Given the description of an element on the screen output the (x, y) to click on. 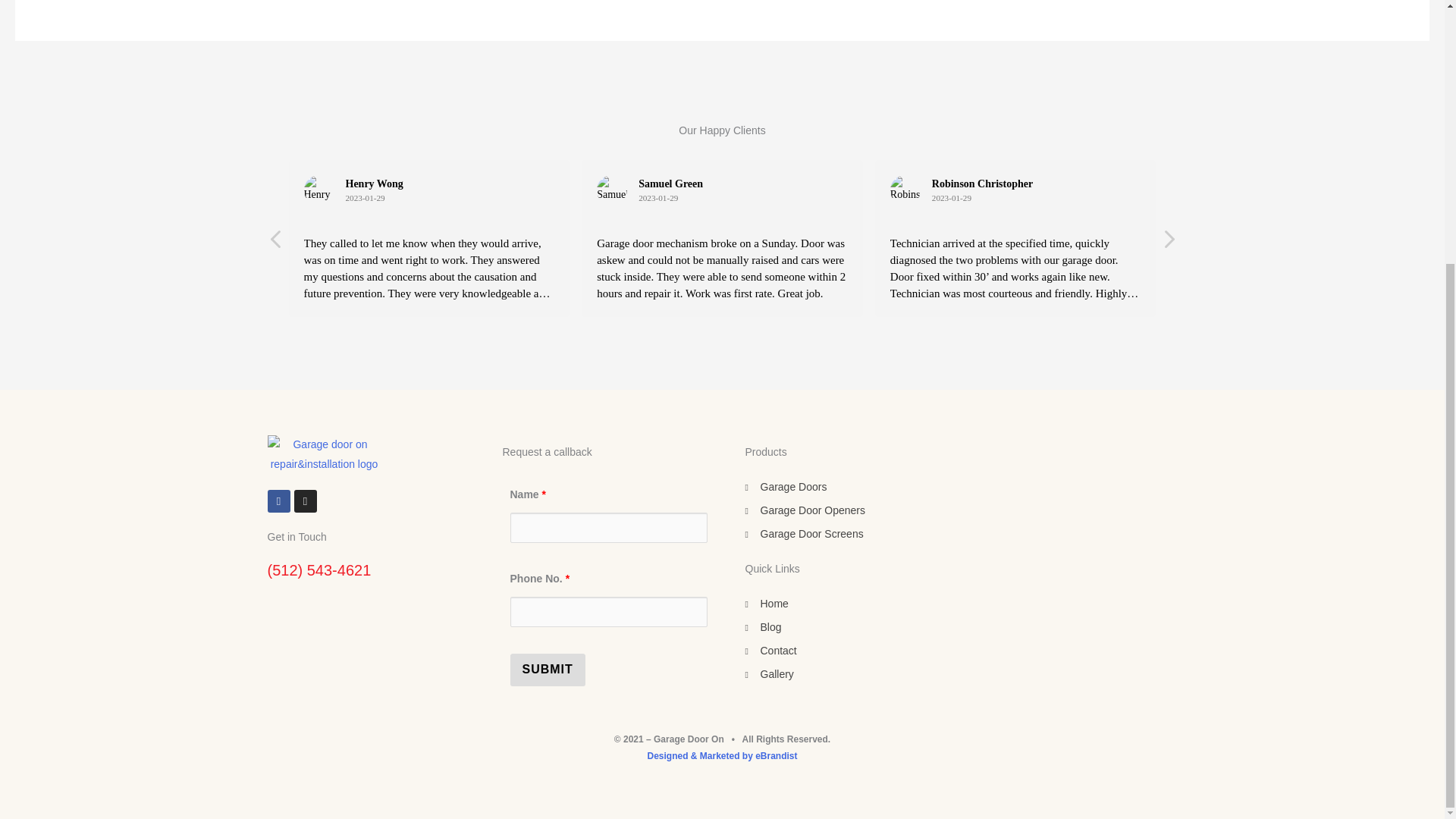
Submit (547, 669)
